Given the description of an element on the screen output the (x, y) to click on. 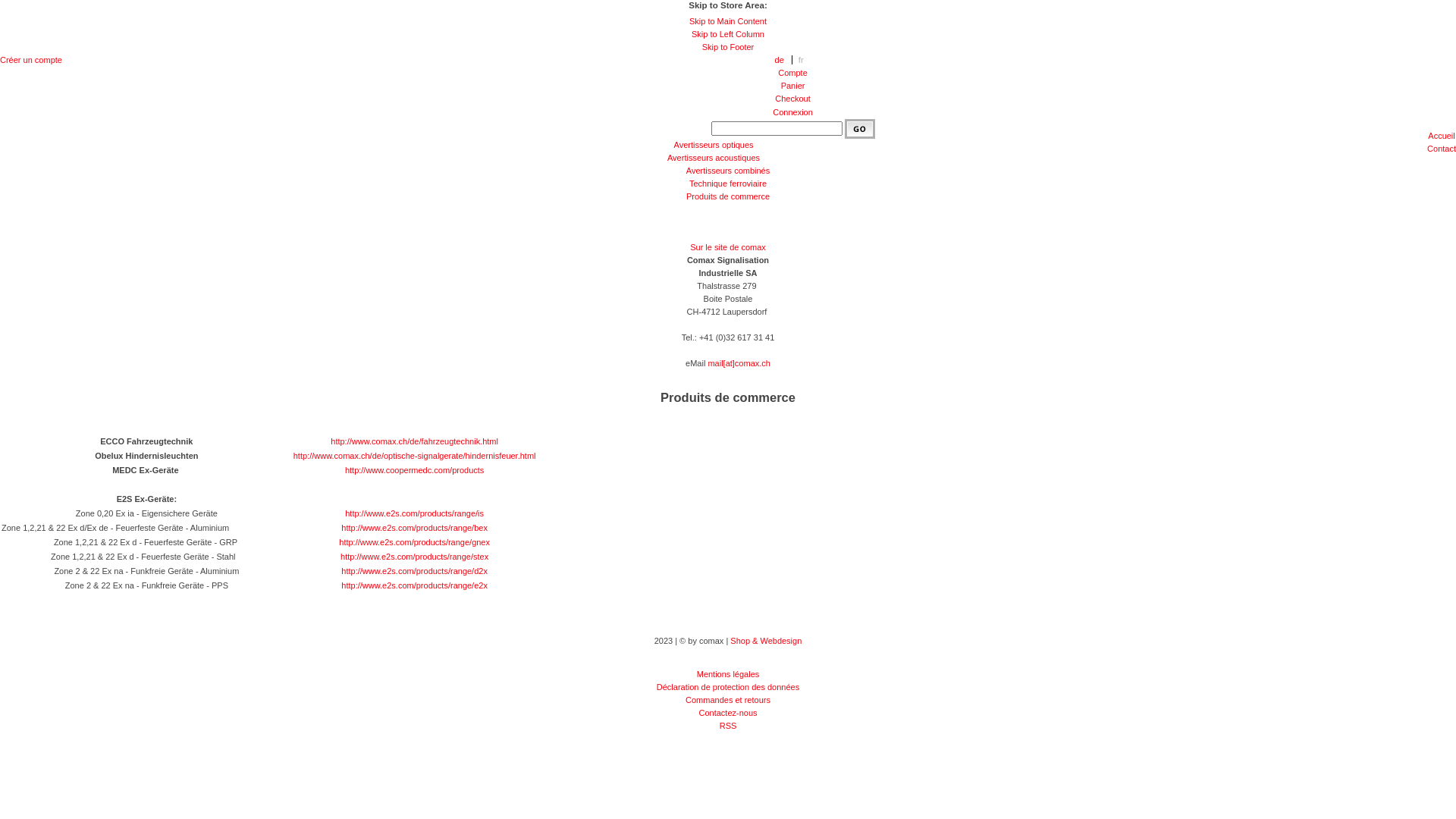
http://www.e2s.com/products/range/gnex Element type: text (413, 541)
Skip to Main Content Element type: text (727, 20)
Checkout Element type: text (792, 98)
http://www.comax.ch/de/fahrzeugtechnik.html Element type: text (414, 440)
http://www.e2s.com/products/range/is Element type: text (414, 512)
Panier Element type: text (793, 85)
Technique ferroviaire Element type: text (727, 183)
Skip to Footer Element type: text (727, 46)
Connexion Element type: text (792, 111)
fr Element type: text (804, 59)
de Element type: text (783, 59)
Compte Element type: text (792, 72)
Avertisseurs optiques Element type: text (713, 144)
Accueil Element type: text (1440, 135)
Avertisseurs acoustiques Element type: text (713, 157)
http://www.e2s.com/products/range/d2x Element type: text (414, 570)
Commandes et retours Element type: text (727, 699)
http://www.coopermedc.com/products Element type: text (414, 469)
mail[at]comax.ch Element type: text (738, 362)
Produits de commerce Element type: text (727, 195)
http://www.e2s.com/products/range/e2x Element type: text (414, 584)
http://www.e2s.com/products/range/bex Element type: text (414, 527)
Skip to Left Column Element type: text (727, 33)
http://www.e2s.com/products/range/stex Element type: text (414, 556)
Shop & Webdesign Element type: text (765, 640)
RSS Element type: text (728, 725)
Contactez-nous Element type: text (727, 712)
Sur le site de comax Element type: text (727, 246)
